Given the description of an element on the screen output the (x, y) to click on. 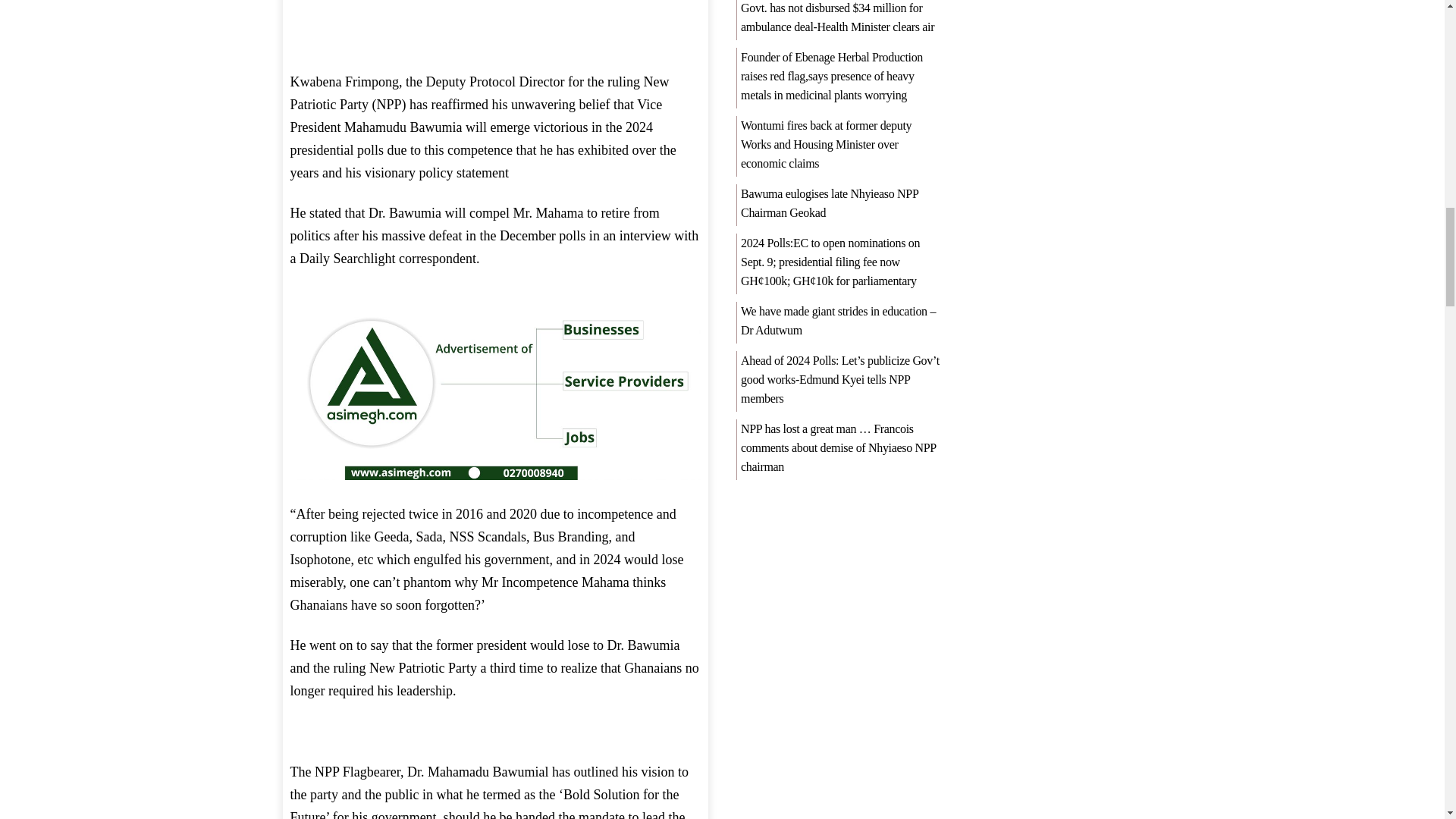
Bawuma eulogises late Nhyieaso NPP Chairman Geokad (829, 203)
